Given the description of an element on the screen output the (x, y) to click on. 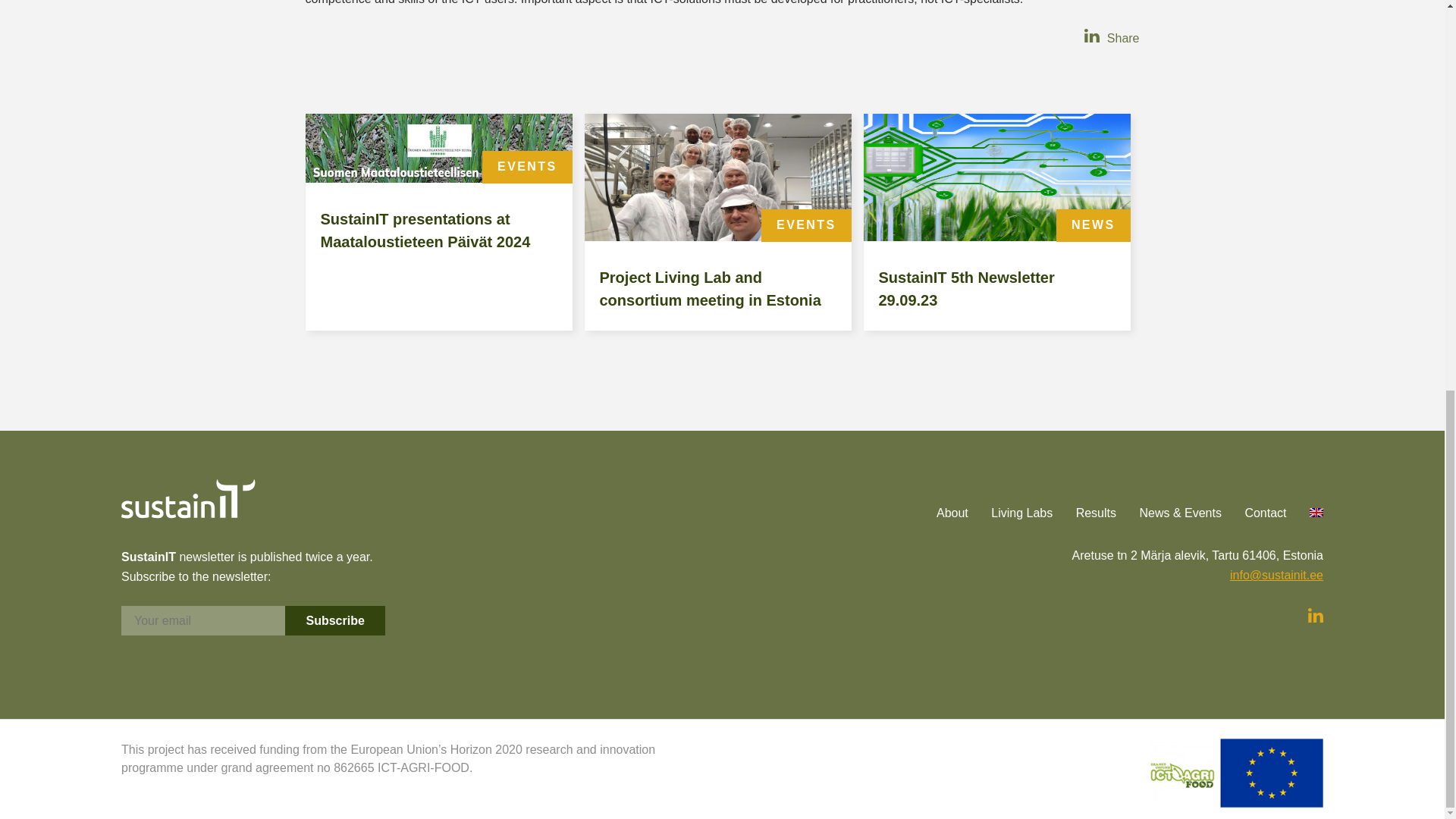
Share (1120, 38)
Subscribe (334, 620)
Results (1086, 512)
Project Living Lab and consortium meeting in Estonia (716, 288)
NEWS (1093, 224)
Living Labs (1011, 512)
Contact (1254, 512)
Project Living Lab and consortium meeting in Estonia (716, 236)
Project Living Lab and consortium meeting in Estonia (716, 288)
SustainIT 5th Newsletter 29.09.23 (996, 236)
EVENTS (805, 224)
SustainIT 5th Newsletter 29.09.23 (996, 288)
About (942, 512)
Subscribe (334, 620)
EVENTS (526, 165)
